Given the description of an element on the screen output the (x, y) to click on. 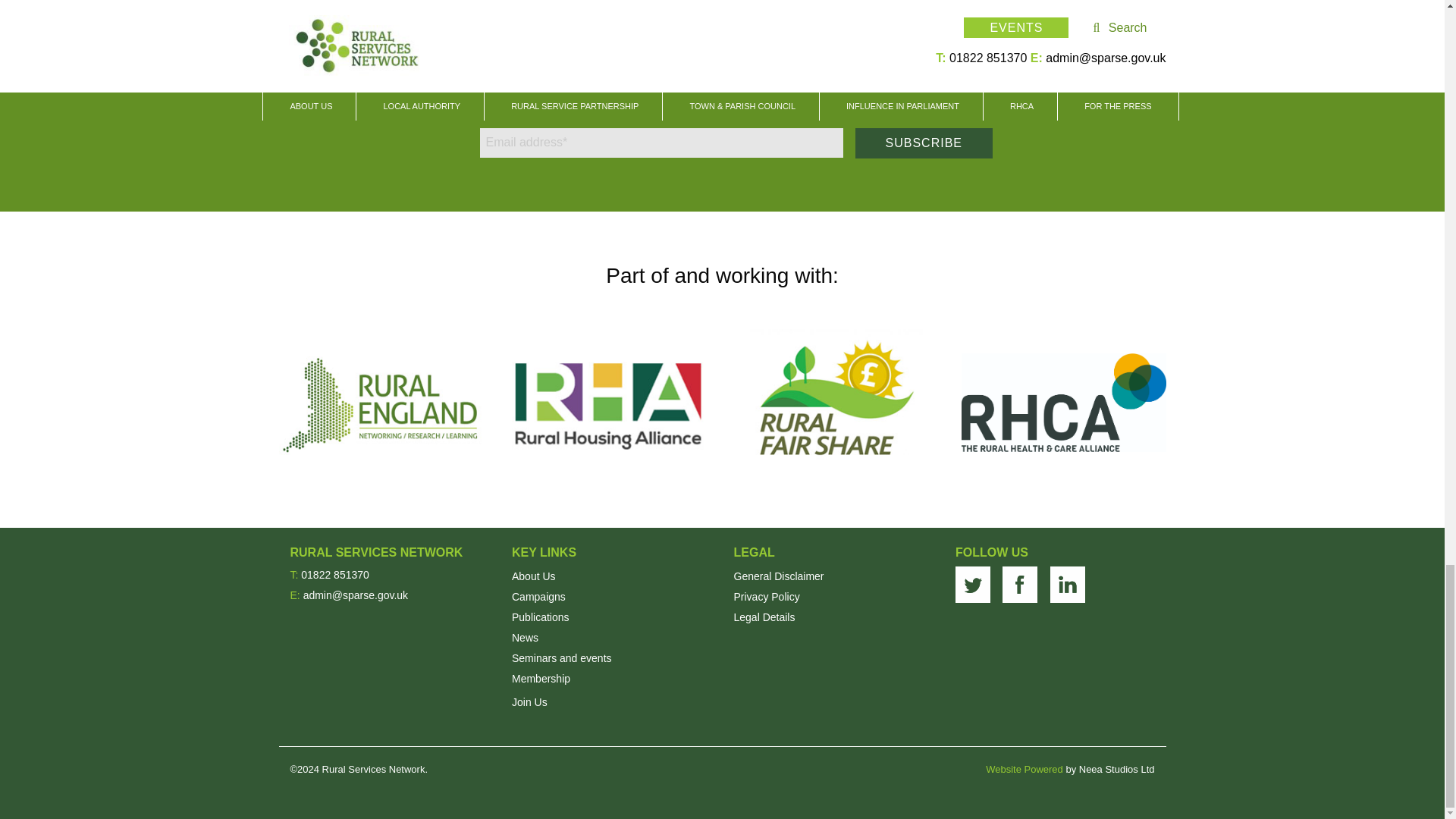
SUBSCRIBE (924, 142)
Web Design by Neea Studios Ltd (1023, 769)
